Given the description of an element on the screen output the (x, y) to click on. 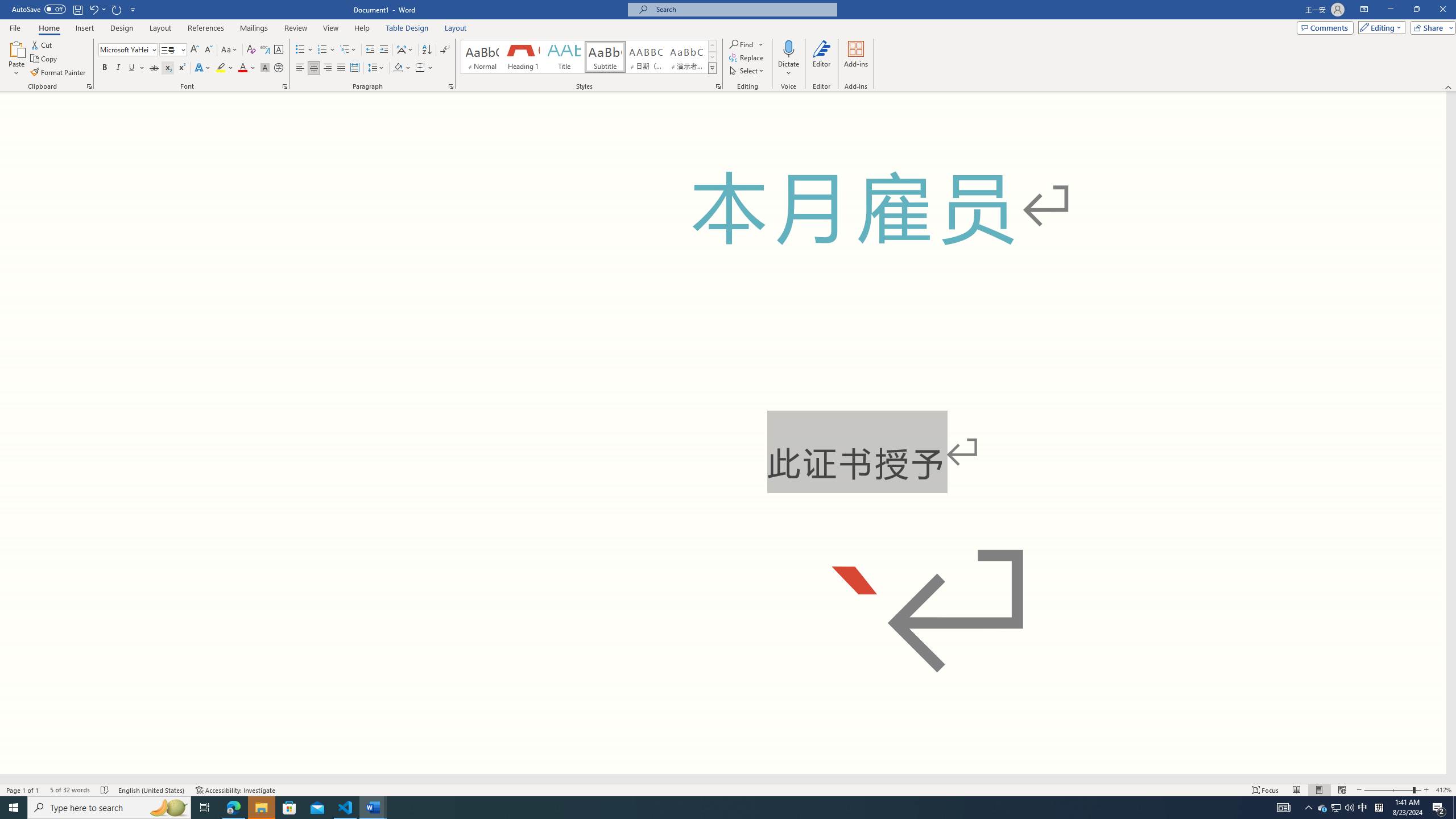
Spelling and Grammar Check No Errors (105, 790)
